Given the description of an element on the screen output the (x, y) to click on. 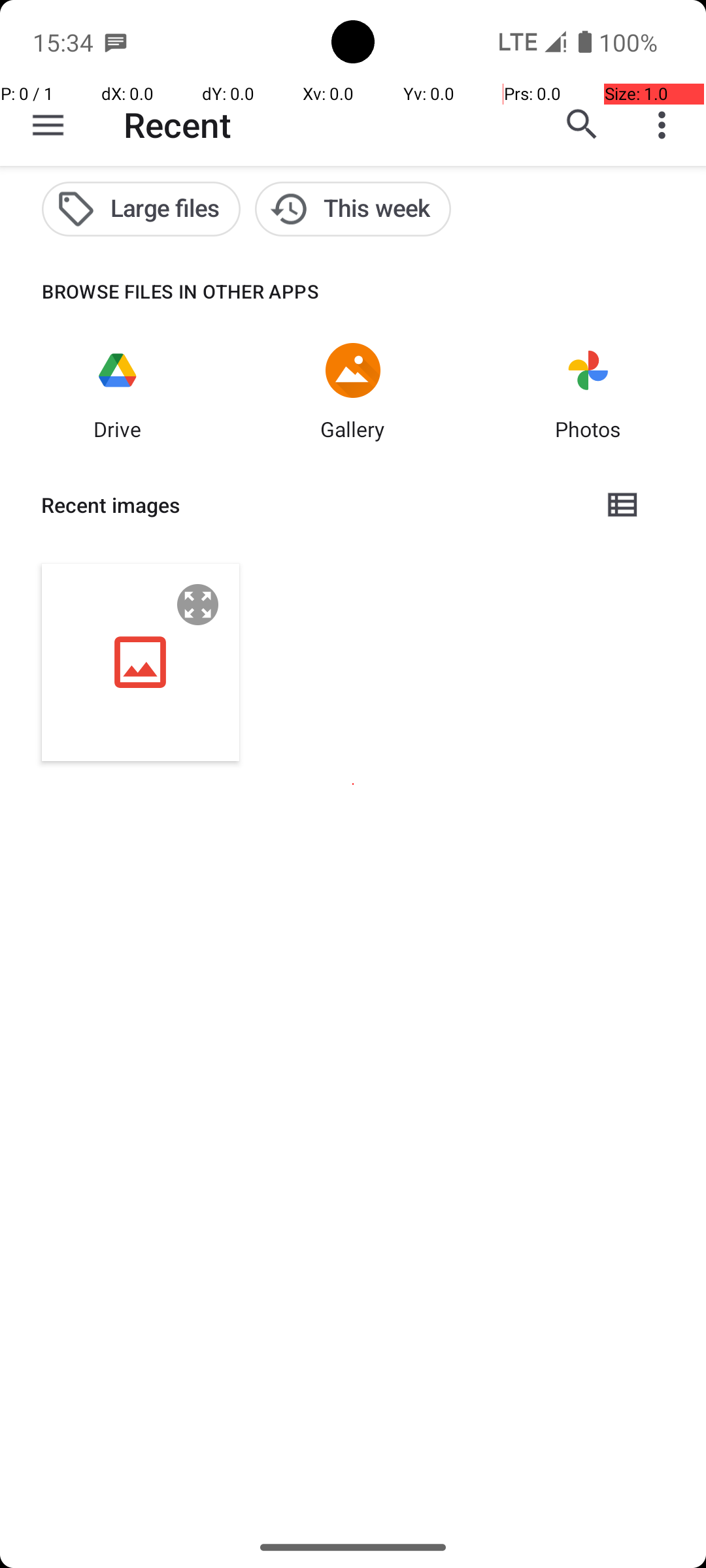
Recent images Element type: android.widget.TextView (311, 504)
IMG_20231015_153418.jpg, 30.95 kB, 15:34 Element type: android.widget.LinearLayout (140, 662)
Preview the file IMG_20231015_153418.jpg Element type: android.widget.FrameLayout (197, 604)
